Given the description of an element on the screen output the (x, y) to click on. 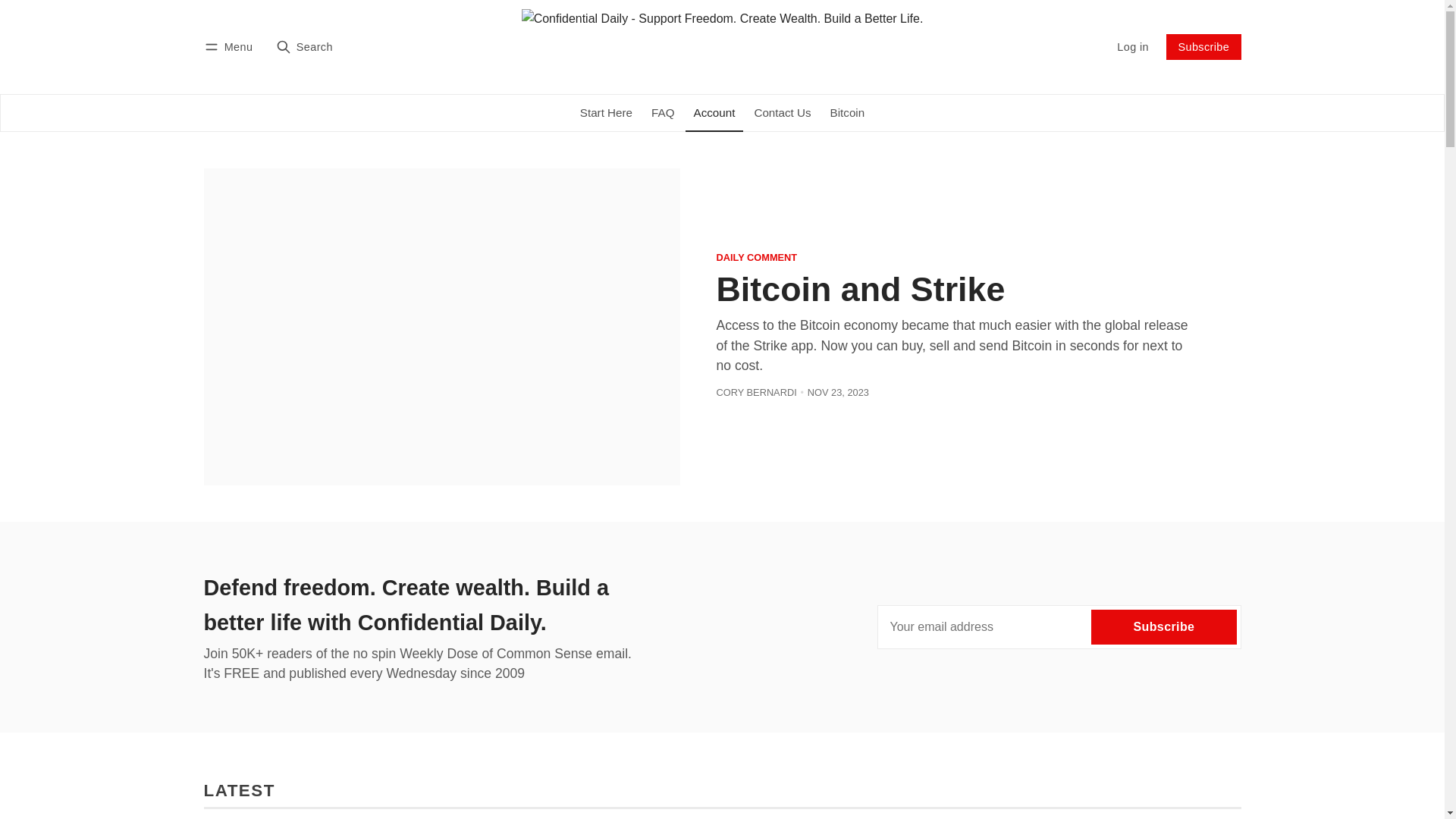
Account Element type: text (714, 112)
Start Here Element type: text (605, 112)
Bitcoin Element type: text (847, 112)
FAQ Element type: text (662, 112)
Search Element type: text (303, 46)
Log in Element type: text (1132, 46)
DAILY COMMENT Element type: text (756, 258)
CORY BERNARDI Element type: text (755, 392)
Subscribe Element type: text (1203, 46)
Contact Us Element type: text (782, 112)
Bitcoin and Strike Element type: text (859, 288)
Subscribe Element type: text (1163, 626)
Menu Element type: text (230, 46)
